Given the description of an element on the screen output the (x, y) to click on. 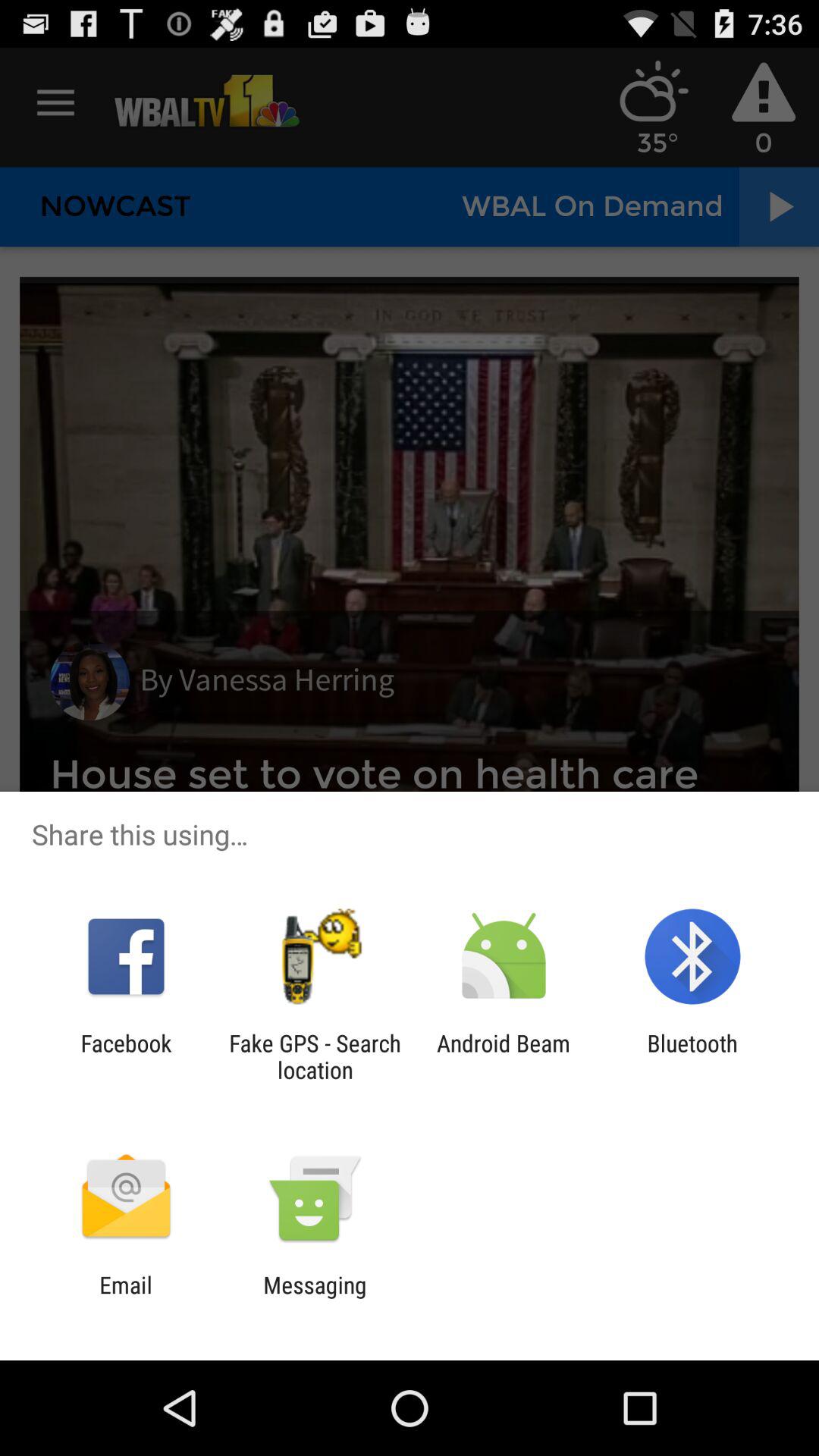
choose the item next to the fake gps search (503, 1056)
